Given the description of an element on the screen output the (x, y) to click on. 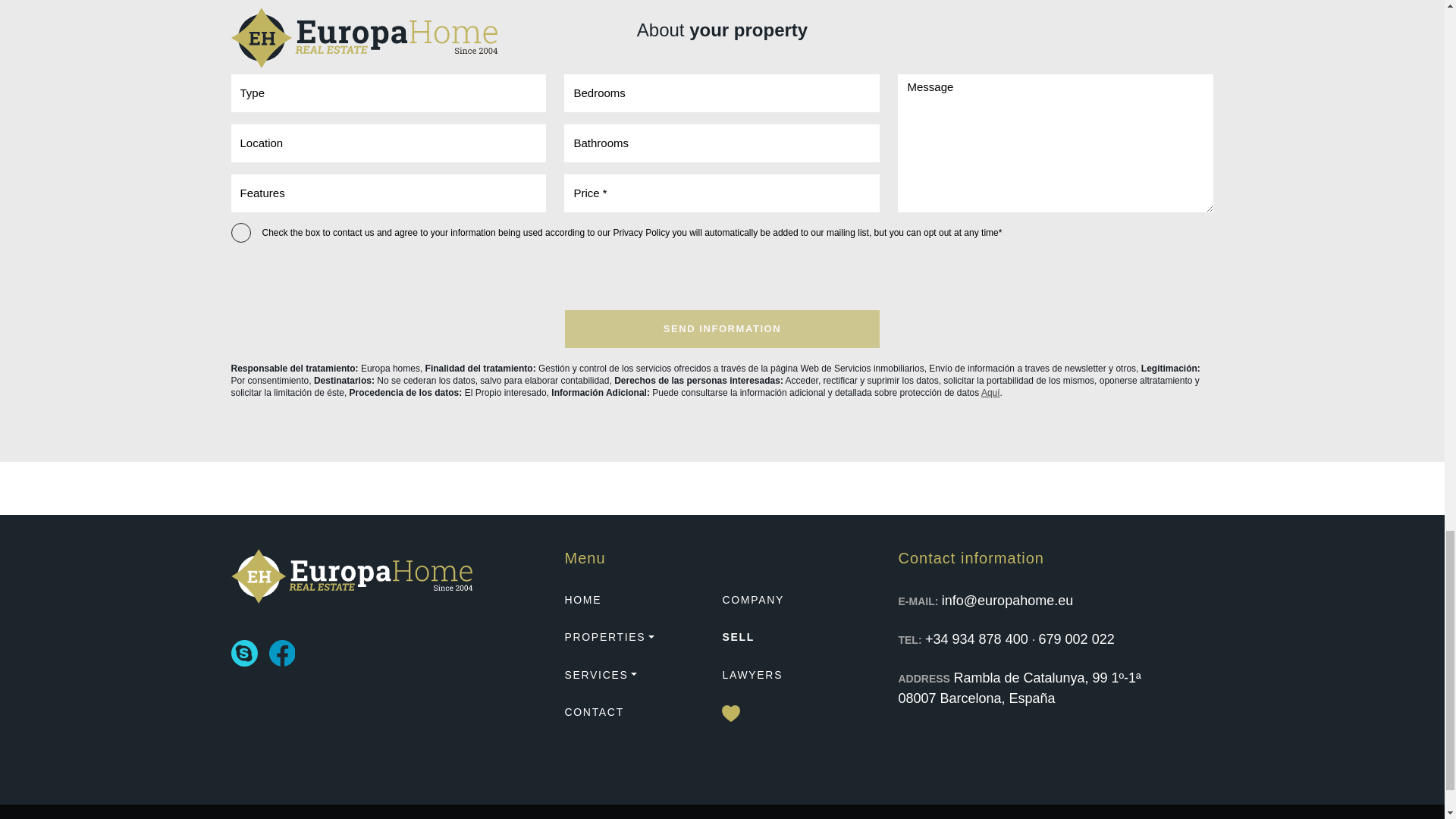
Europa homes (350, 575)
